Given the description of an element on the screen output the (x, y) to click on. 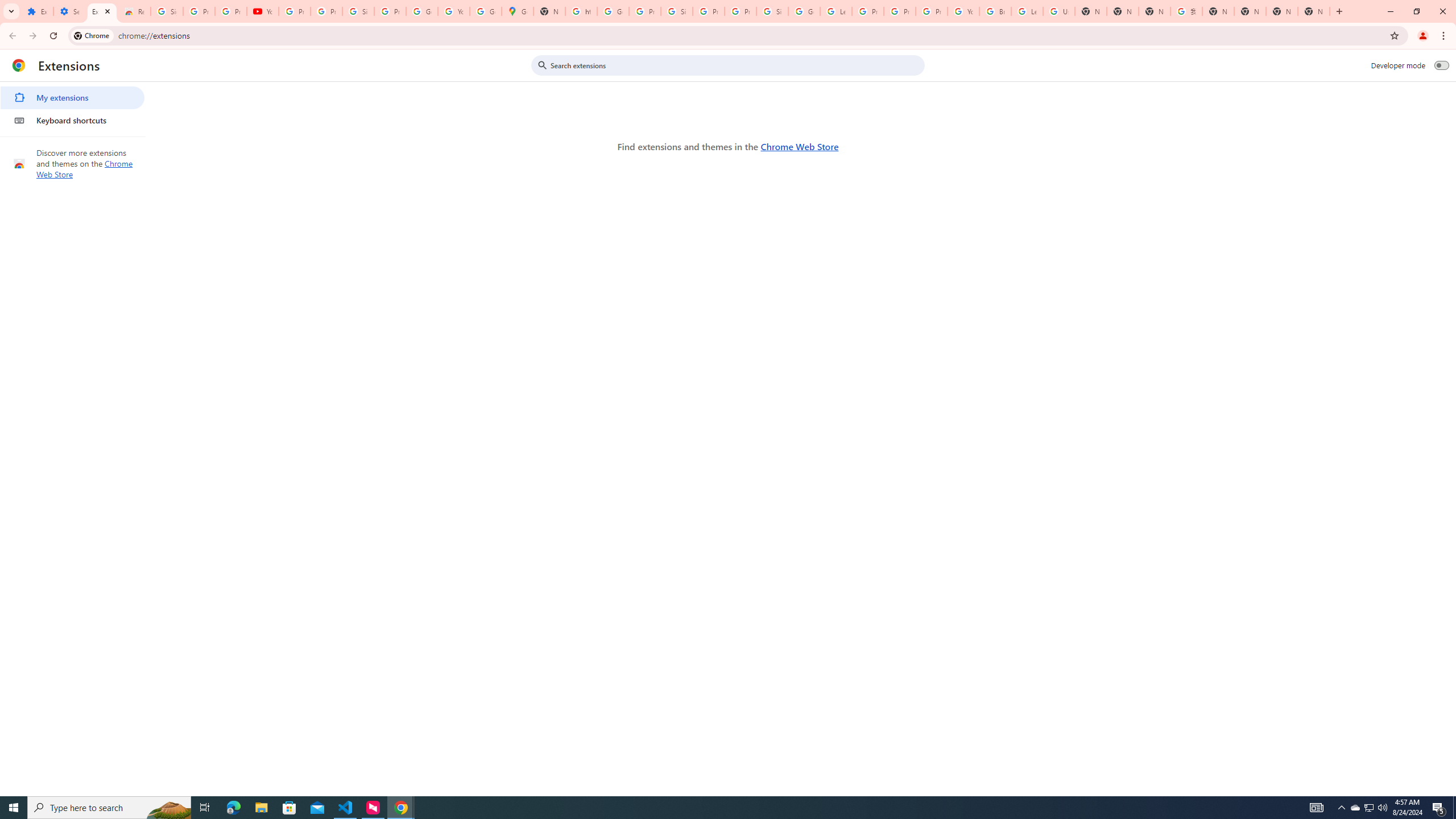
Google Maps (517, 11)
YouTube (262, 11)
AutomationID: sectionMenu (72, 106)
New Tab (1313, 11)
Privacy Help Center - Policies Help (899, 11)
Google Account (421, 11)
